Given the description of an element on the screen output the (x, y) to click on. 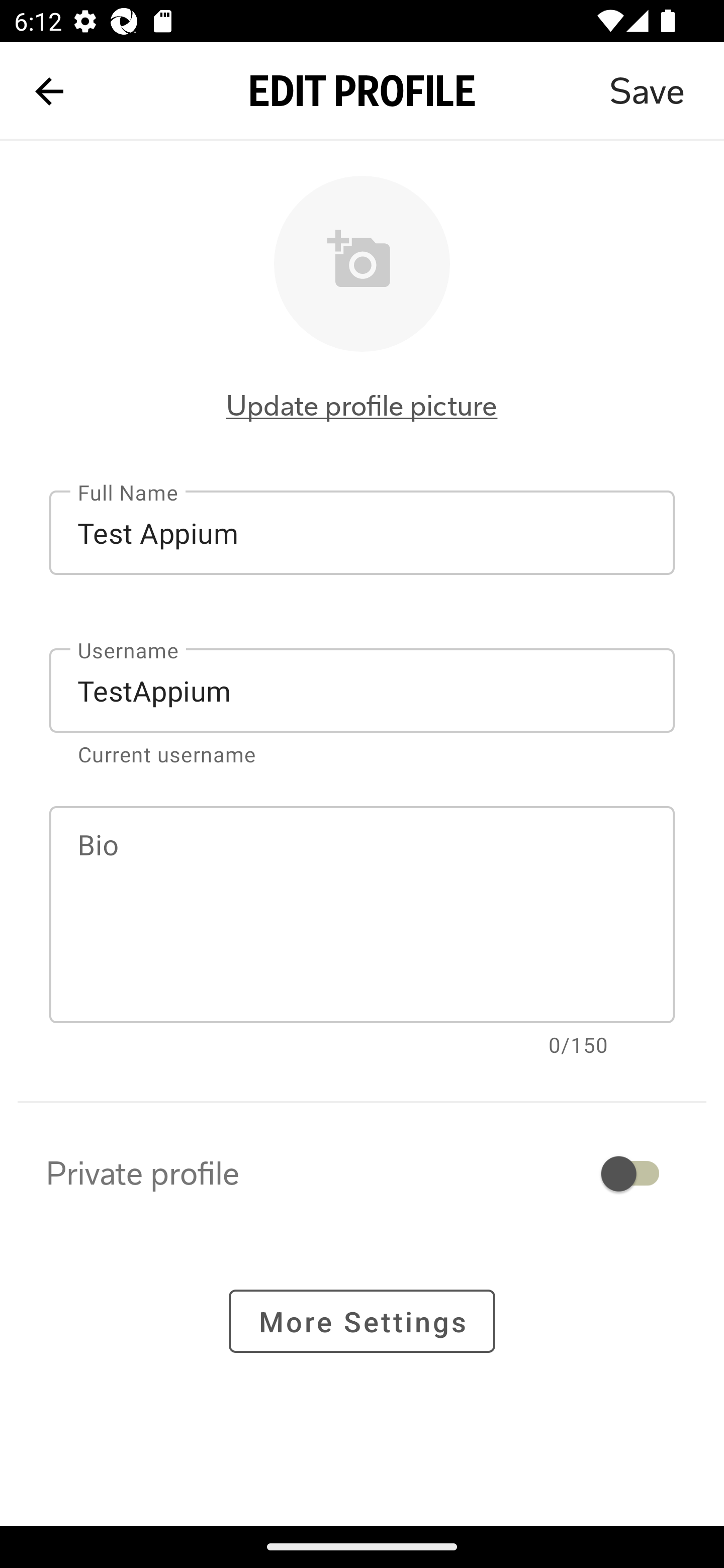
Back (49, 91)
Save (646, 91)
Update profile picture (361, 405)
Test Appium (361, 532)
TestAppium (361, 689)
Bio (361, 914)
Private profile (361, 1173)
More Settings (361, 1321)
